Given the description of an element on the screen output the (x, y) to click on. 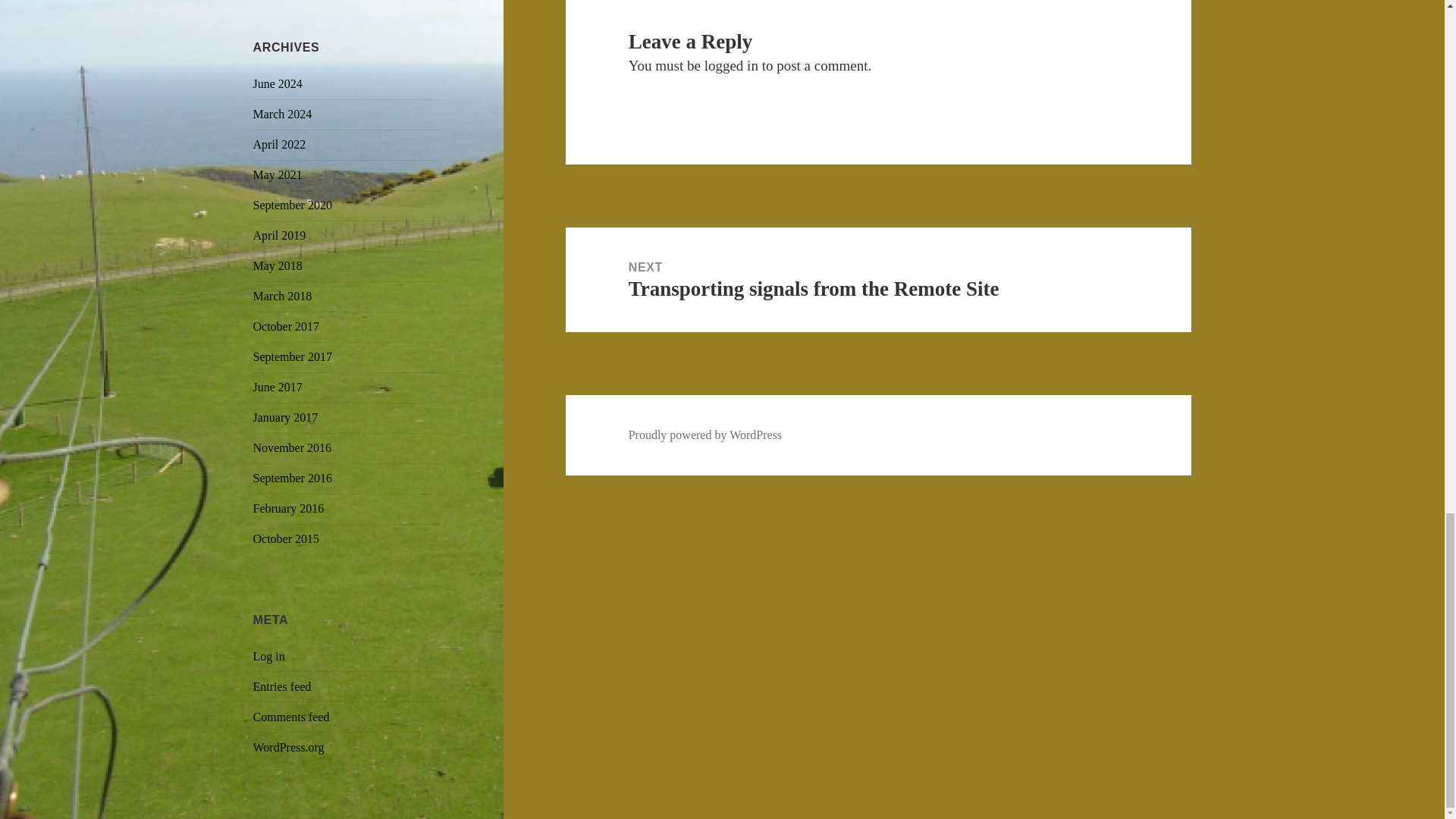
September 2020 (292, 205)
June 2024 (277, 83)
June 2017 (277, 386)
October 2017 (286, 326)
September 2017 (292, 356)
March 2024 (283, 113)
January 2017 (285, 417)
May 2021 (277, 174)
April 2019 (279, 235)
April 2022 (279, 144)
May 2018 (277, 265)
March 2018 (283, 295)
